Given the description of an element on the screen output the (x, y) to click on. 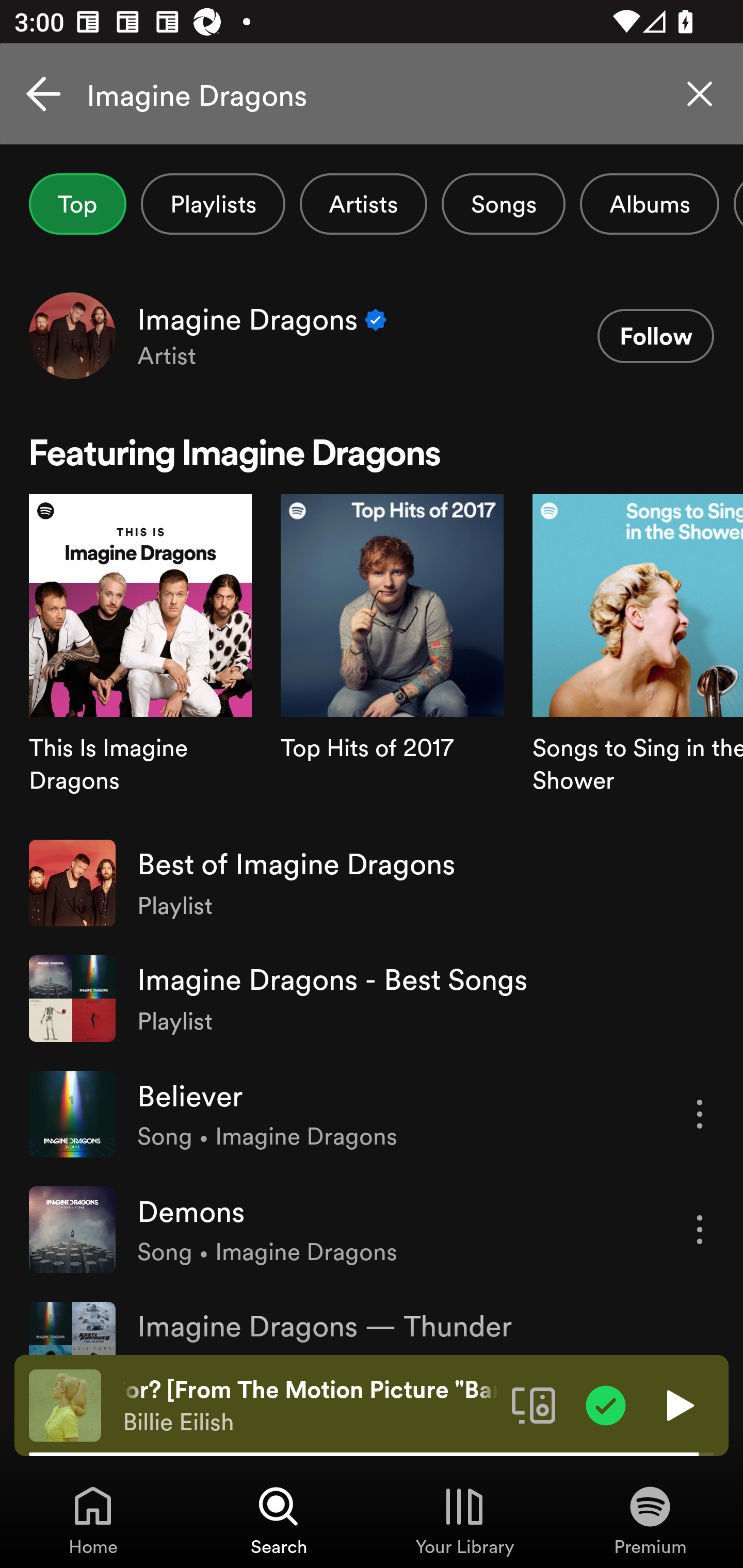
Imagine Dragons (371, 93)
Cancel (43, 93)
Clear search query (699, 93)
Top (77, 203)
Playlists (213, 203)
Artists (363, 203)
Songs (503, 203)
Albums (649, 203)
Imagine Dragons Verified Artist Follow Follow (371, 335)
Follow (655, 335)
Search card image This Is Imagine Dragons (139, 658)
Search card image Top Hits of 2017 (391, 658)
Search card image Songs to Sing in the Shower (637, 658)
Best of Imagine Dragons Playlist (371, 882)
Imagine Dragons - Best Songs Playlist (371, 998)
More options for song Believer (699, 1113)
More options for song Demons (699, 1229)
Imagine Dragons — Thunder Playlist (371, 1320)
